Given the description of an element on the screen output the (x, y) to click on. 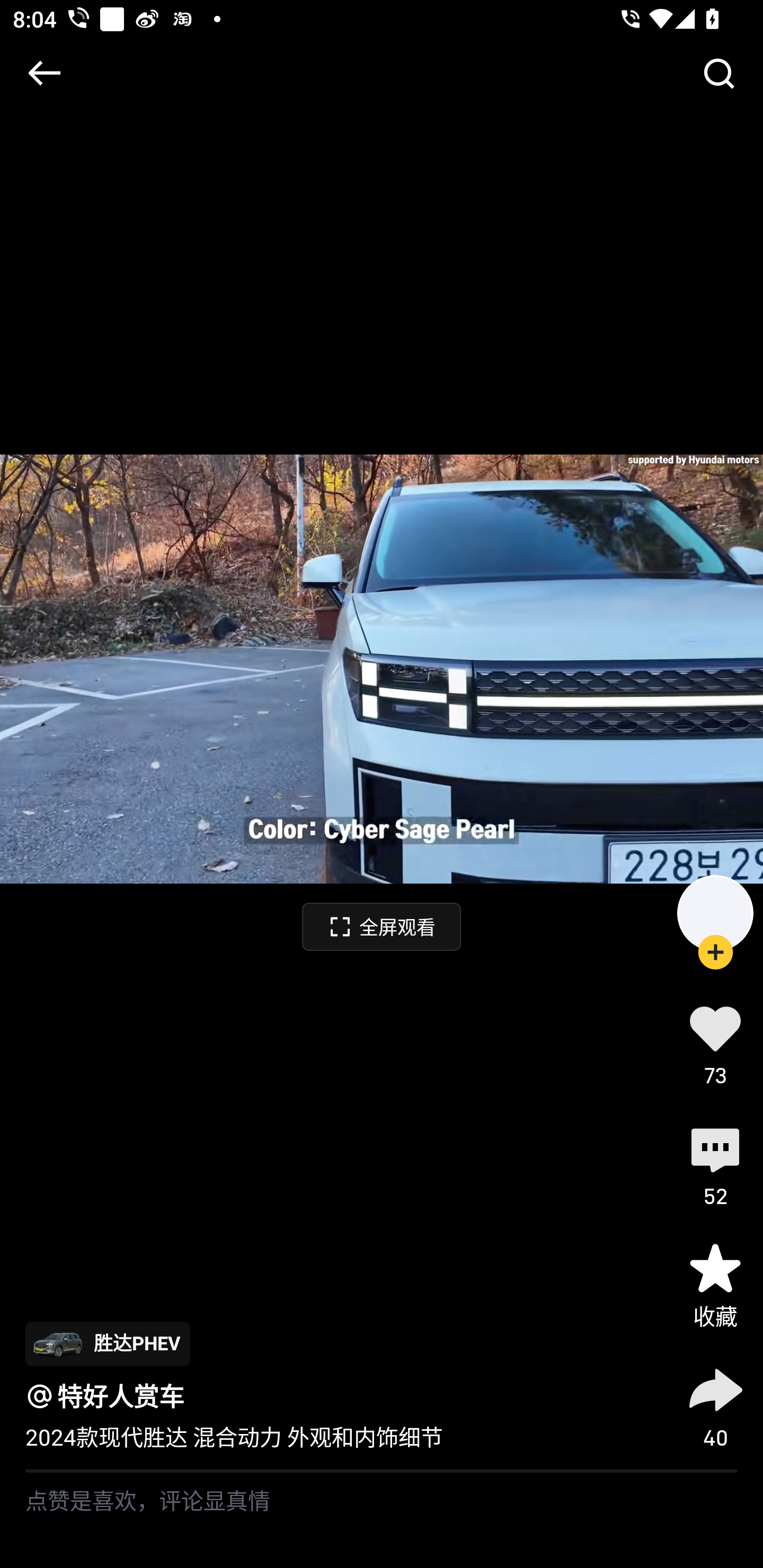
 (44, 72)
 (718, 72)
 全屏观看 (381, 926)
52 (715, 1164)
收藏 (715, 1284)
胜达PHEV (107, 1343)
40 (715, 1405)
特好人赏车 (120, 1396)
2024款现代胜达 混合动力 外观和内饰细节 (234, 1437)
点赞是喜欢，评论显真情 (381, 1520)
